Given the description of an element on the screen output the (x, y) to click on. 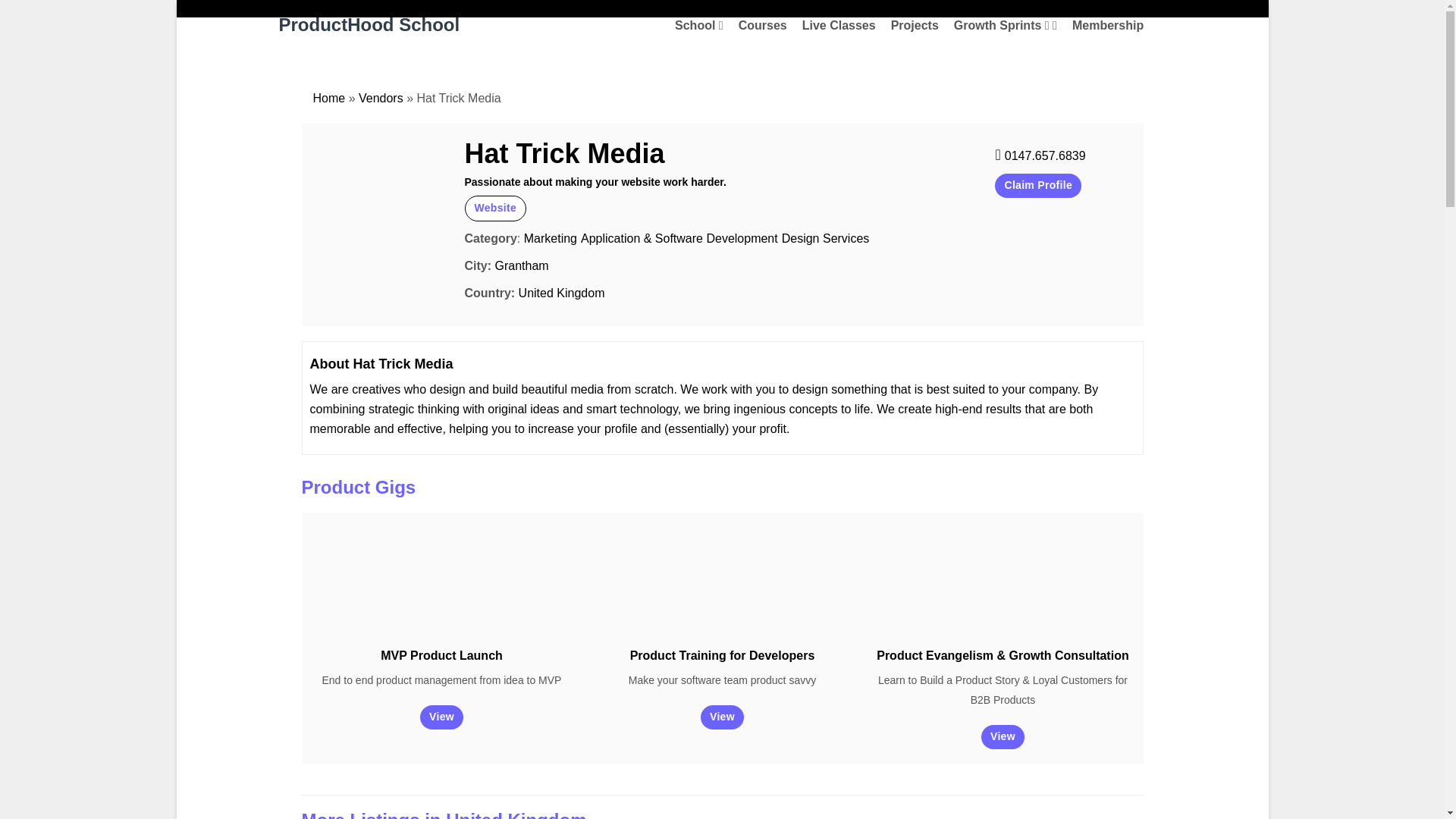
Live Classes (839, 26)
Vendors (380, 97)
Marketing (550, 237)
Home (329, 97)
Projects (915, 26)
Courses (762, 26)
Grantham (521, 265)
Projects (915, 26)
Live Classes (839, 26)
United Kingdom (561, 292)
Claim Profile (1037, 185)
School (699, 26)
ProductHood School (369, 24)
Courses (762, 26)
MVP Product Launch (441, 655)
